Given the description of an element on the screen output the (x, y) to click on. 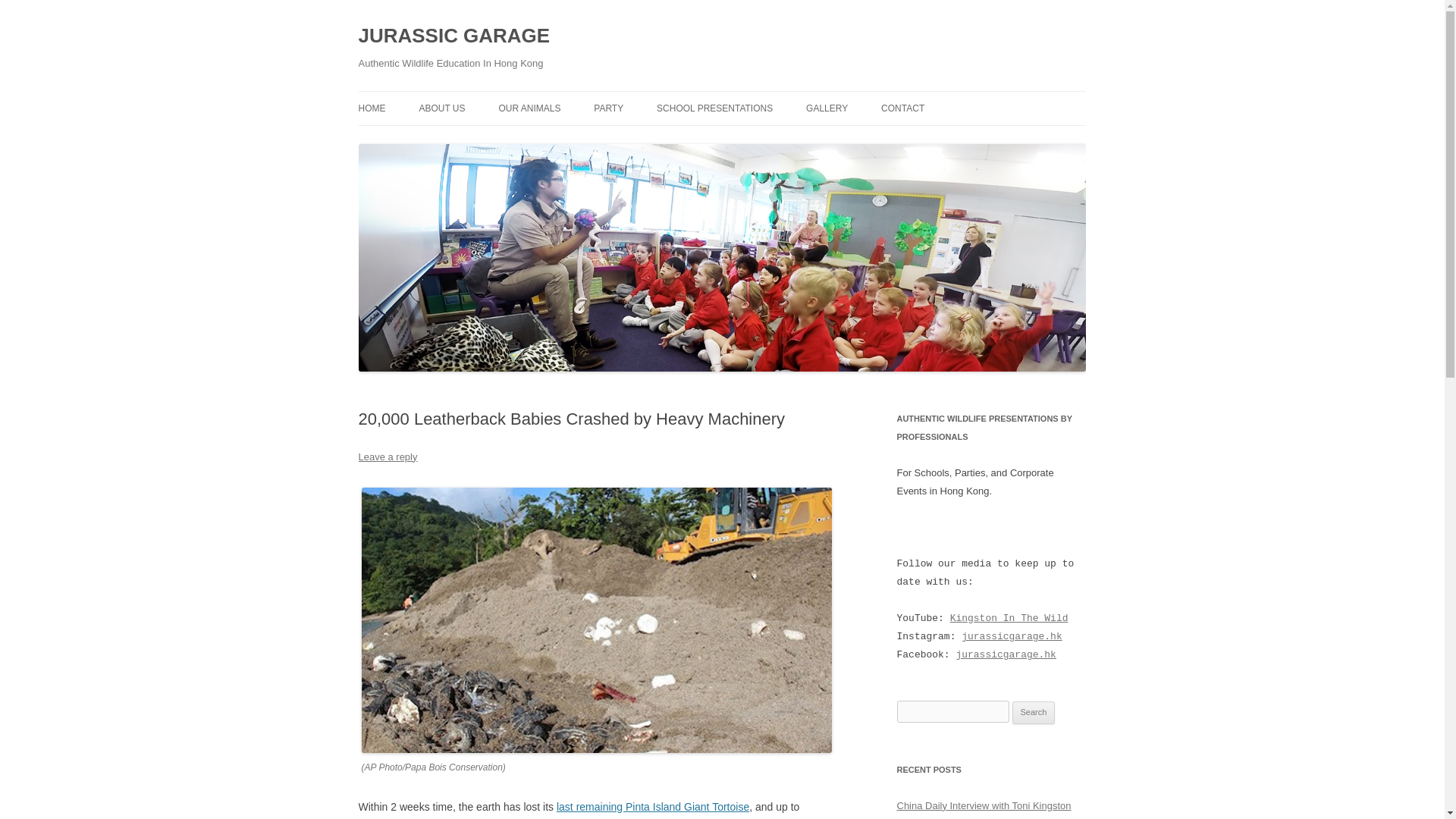
ABOUT US (441, 108)
jurassicgarage.hk (1010, 636)
JURASSIC GARAGE (454, 36)
Search (1033, 712)
CONTACT (902, 108)
Leave a reply (387, 456)
SCHOOL PRESENTATIONS (714, 108)
jurassicgarage.hk (1005, 654)
JURASSIC GARAGE (454, 36)
GALLERY (826, 108)
last remaining Pinta Island Giant Tortoise (652, 806)
Search (1033, 712)
Kingston In The Wild (1009, 618)
